Given the description of an element on the screen output the (x, y) to click on. 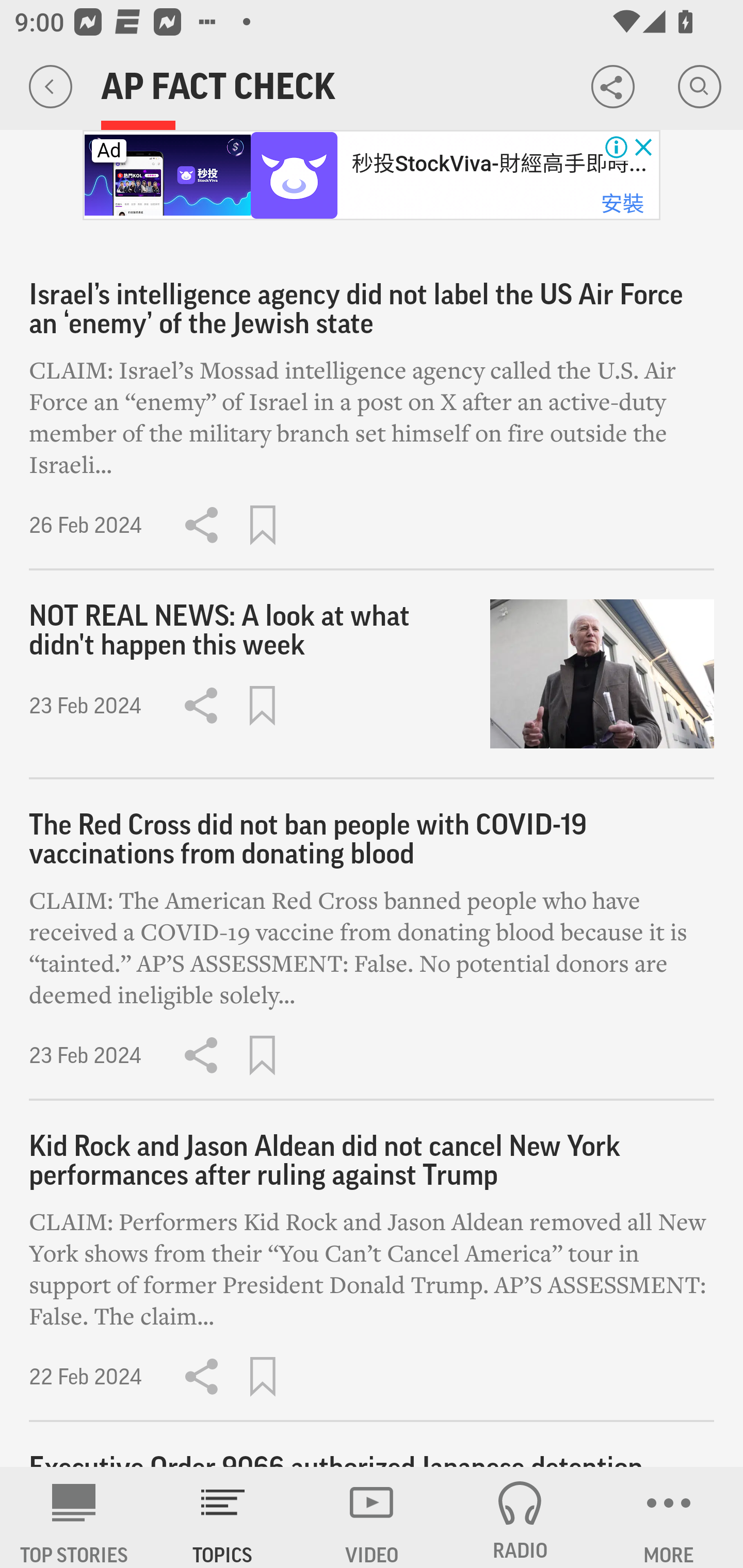
秒投StockViva-財經高手即時... (498, 163)
安裝 (621, 204)
AP News TOP STORIES (74, 1517)
TOPICS (222, 1517)
VIDEO (371, 1517)
RADIO (519, 1517)
MORE (668, 1517)
